Given the description of an element on the screen output the (x, y) to click on. 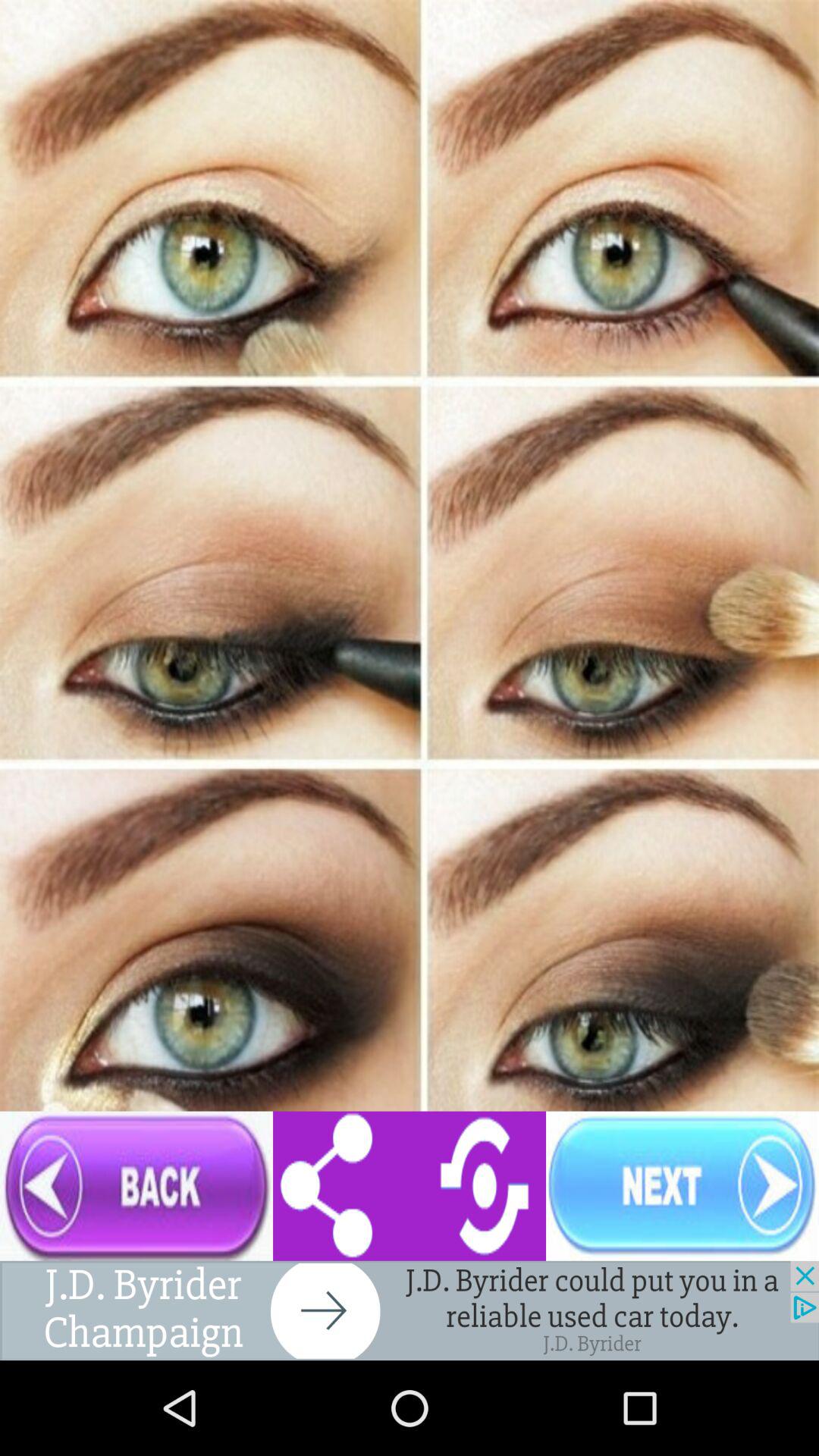
go to the advertising website (409, 1310)
